Given the description of an element on the screen output the (x, y) to click on. 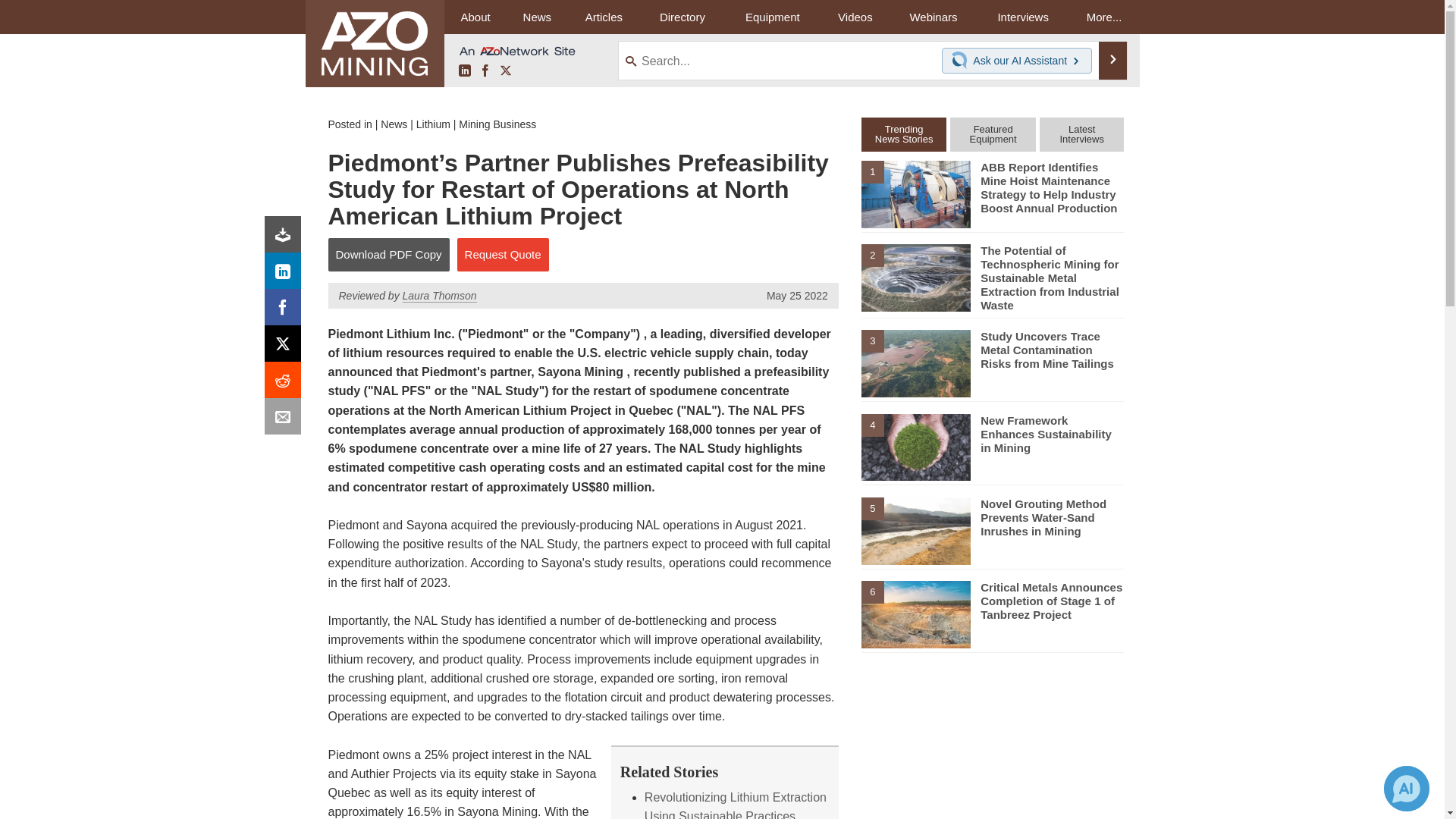
Chat with our AI Assistant (962, 60)
X (285, 348)
News (393, 123)
Interviews (1022, 17)
Chat with our AI Assistant Ask our AI Assistant (1017, 60)
Equipment (772, 17)
Directory (681, 17)
Videos (855, 17)
Lithium (432, 123)
Email (285, 420)
X (505, 71)
About (475, 17)
Download PDF copy (285, 238)
More... (1104, 17)
